Given the description of an element on the screen output the (x, y) to click on. 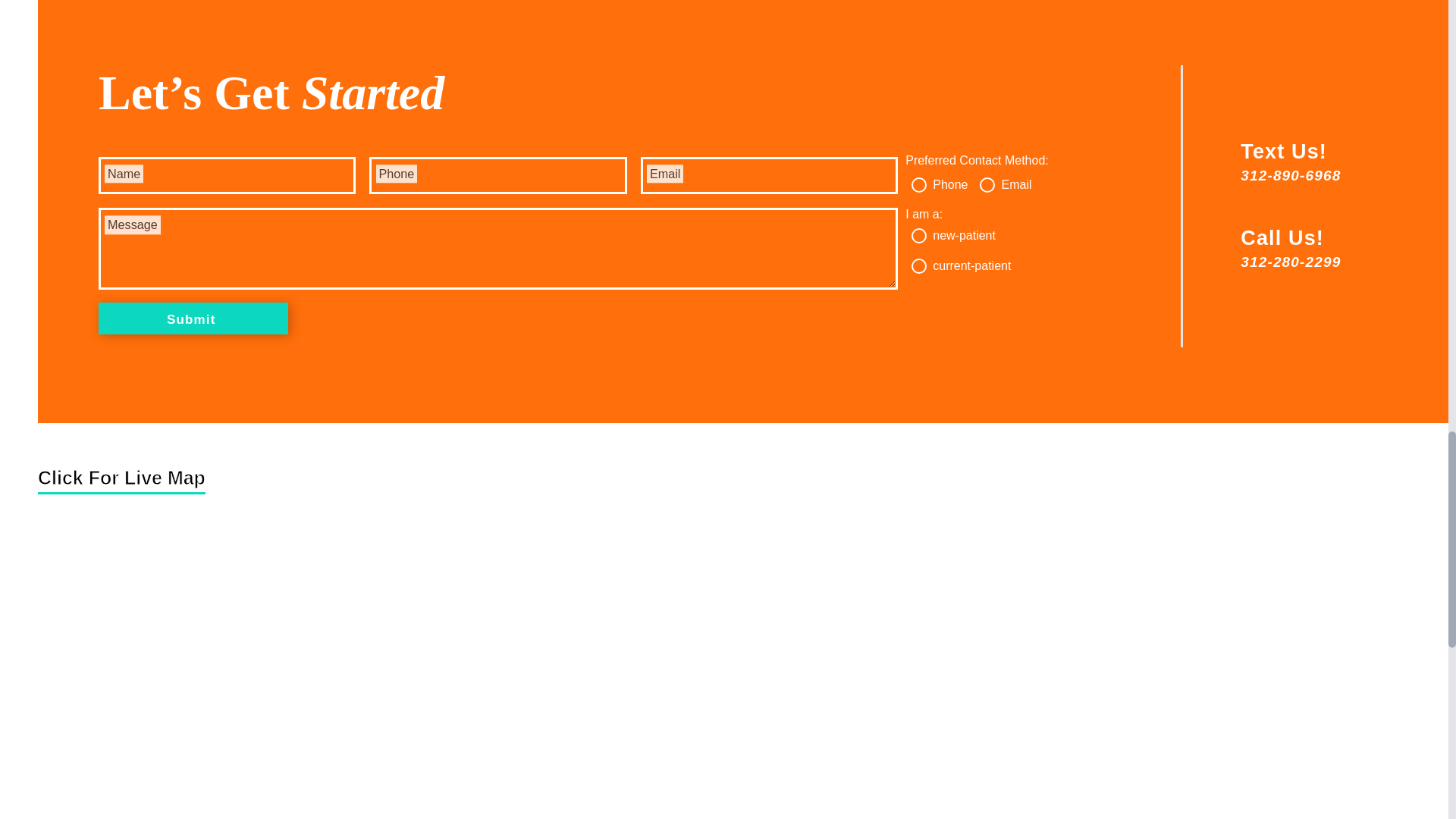
current-patient (918, 265)
Email (986, 184)
Phone (918, 184)
new-patient (918, 235)
